Given the description of an element on the screen output the (x, y) to click on. 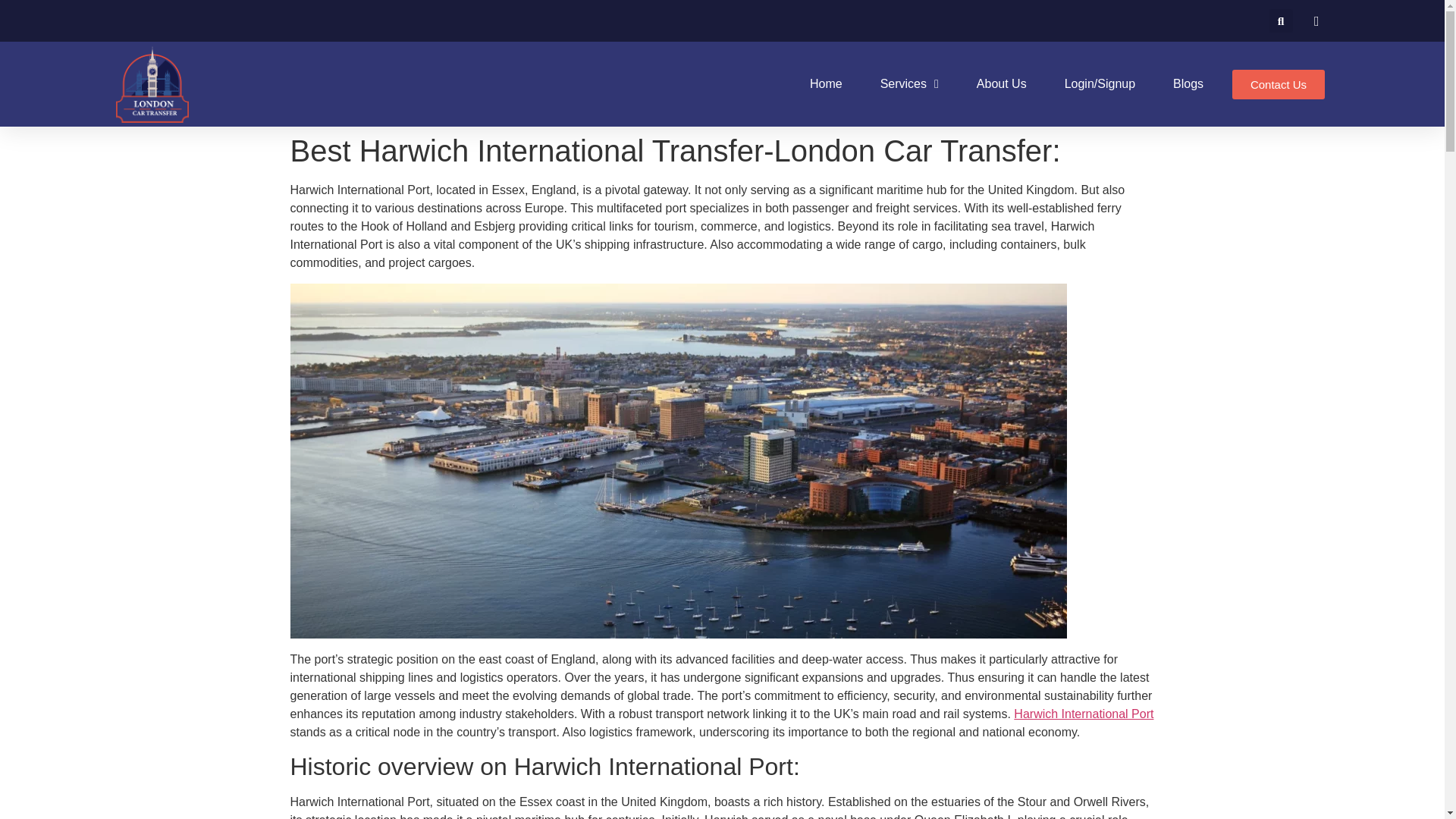
Services (909, 83)
Home (826, 83)
About Us (1001, 83)
Blogs (1188, 83)
Contact Us (1277, 84)
